Given the description of an element on the screen output the (x, y) to click on. 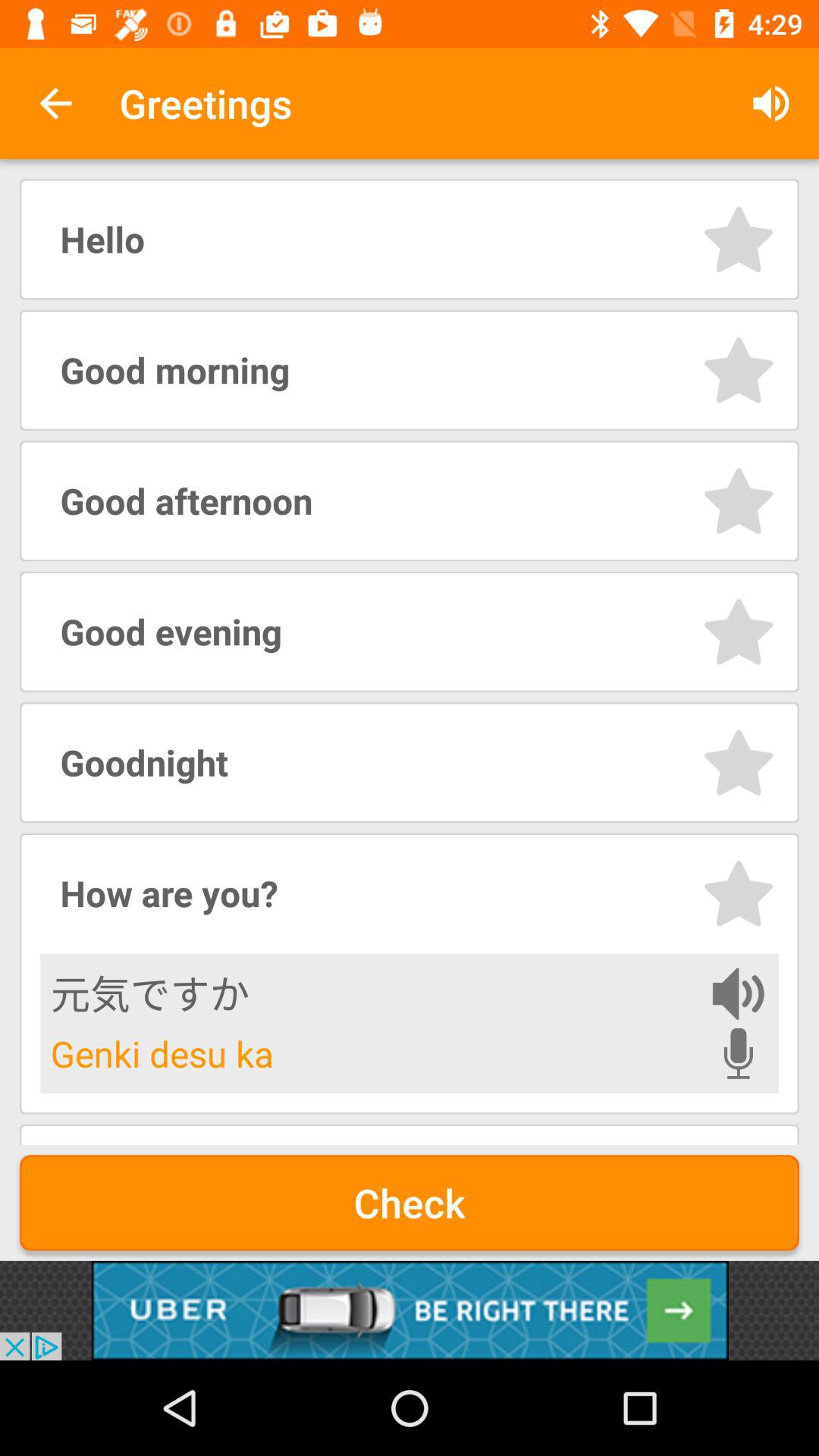
click advertisement (409, 1310)
